Given the description of an element on the screen output the (x, y) to click on. 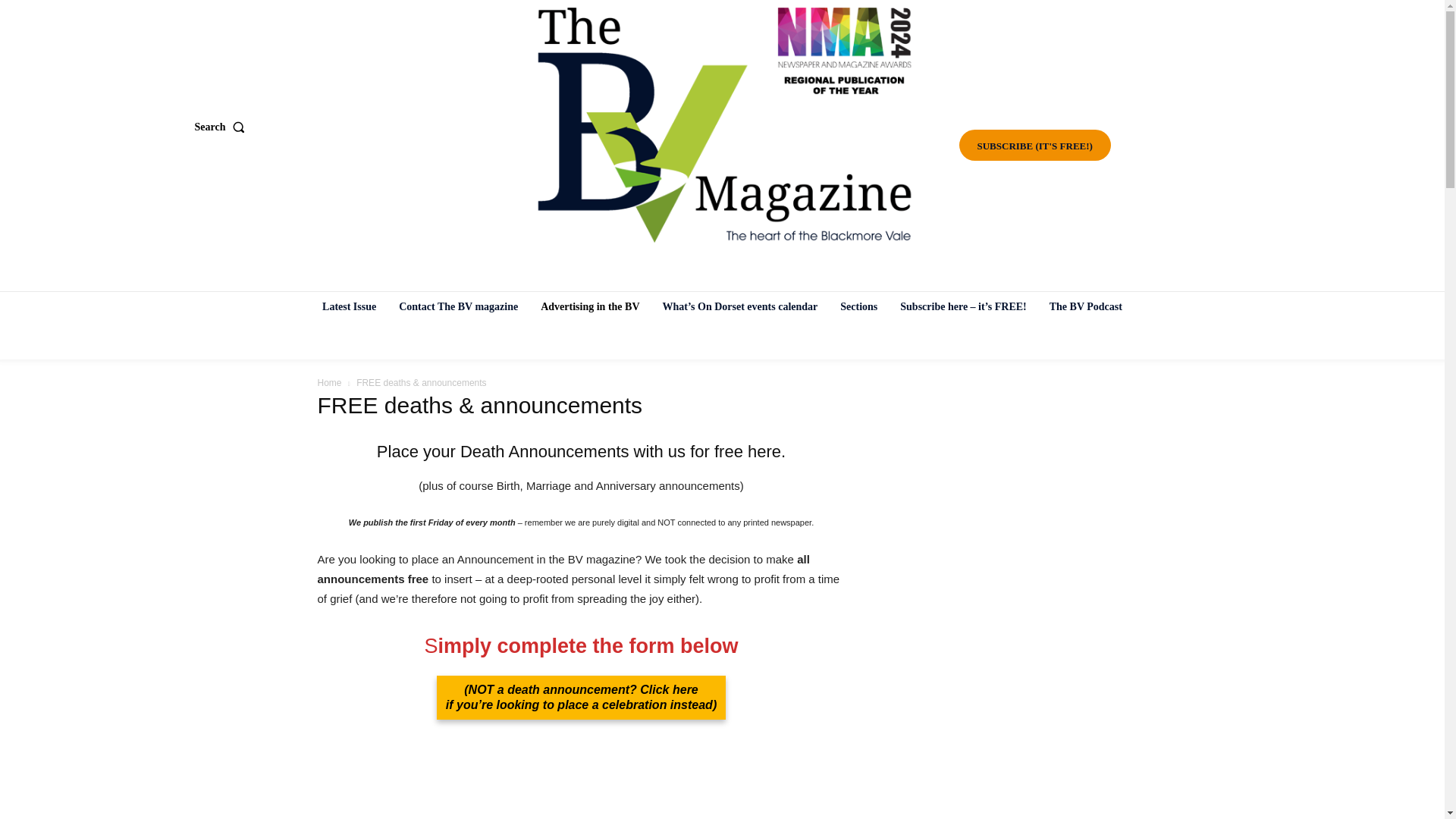
Contact The BV magazine (458, 306)
Search (221, 127)
BV magazine from the Blackmore Vale (724, 125)
Latest Issue (349, 306)
